Given the description of an element on the screen output the (x, y) to click on. 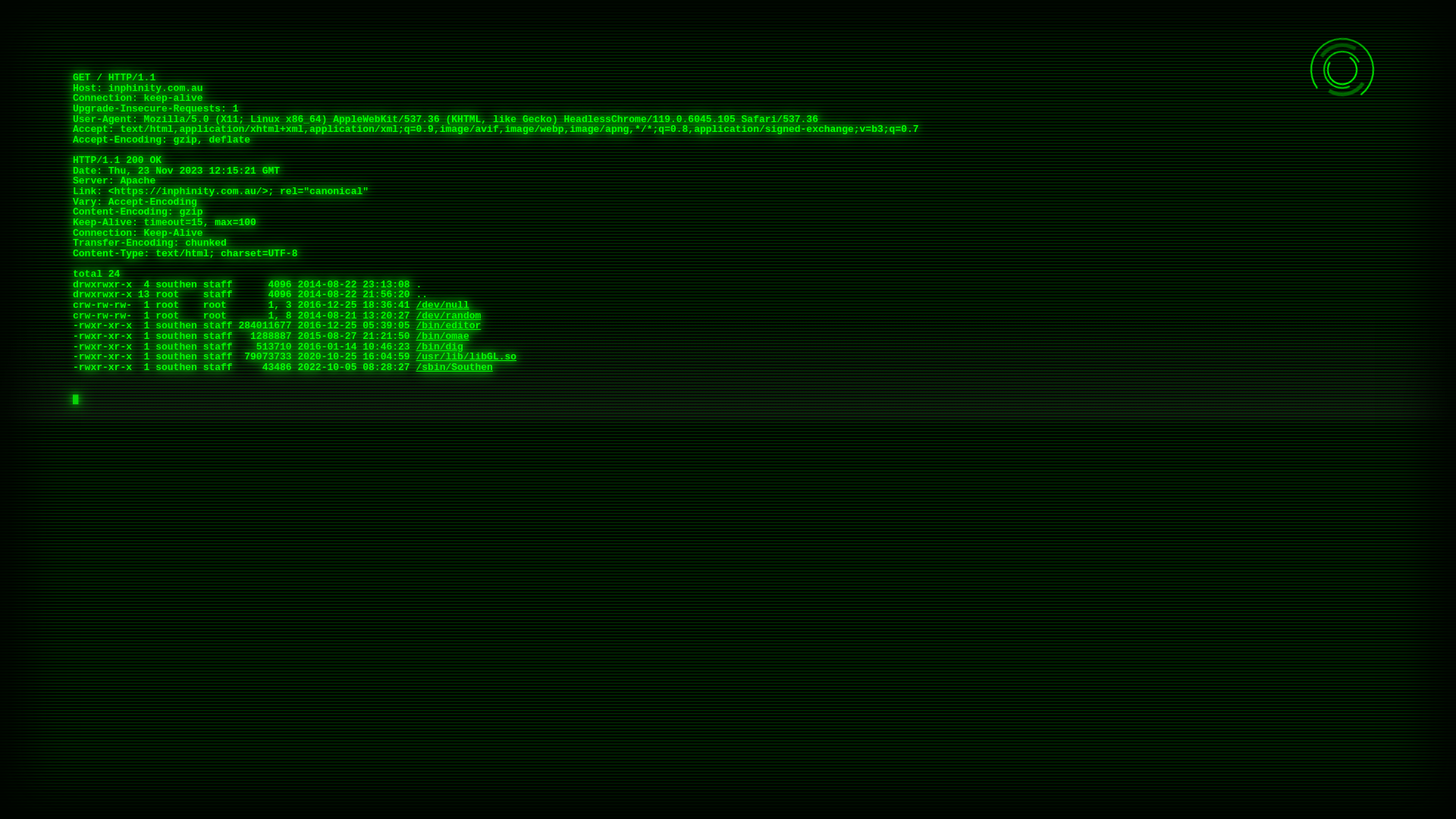
/sbin/Southen Element type: text (453, 367)
/dev/null Element type: text (441, 304)
/bin/dig Element type: text (438, 346)
/bin/editor Element type: text (447, 325)
/bin/omae Element type: text (441, 336)
/usr/lib/libGL.so Element type: text (465, 356)
/dev/random Element type: text (447, 315)
